Given the description of an element on the screen output the (x, y) to click on. 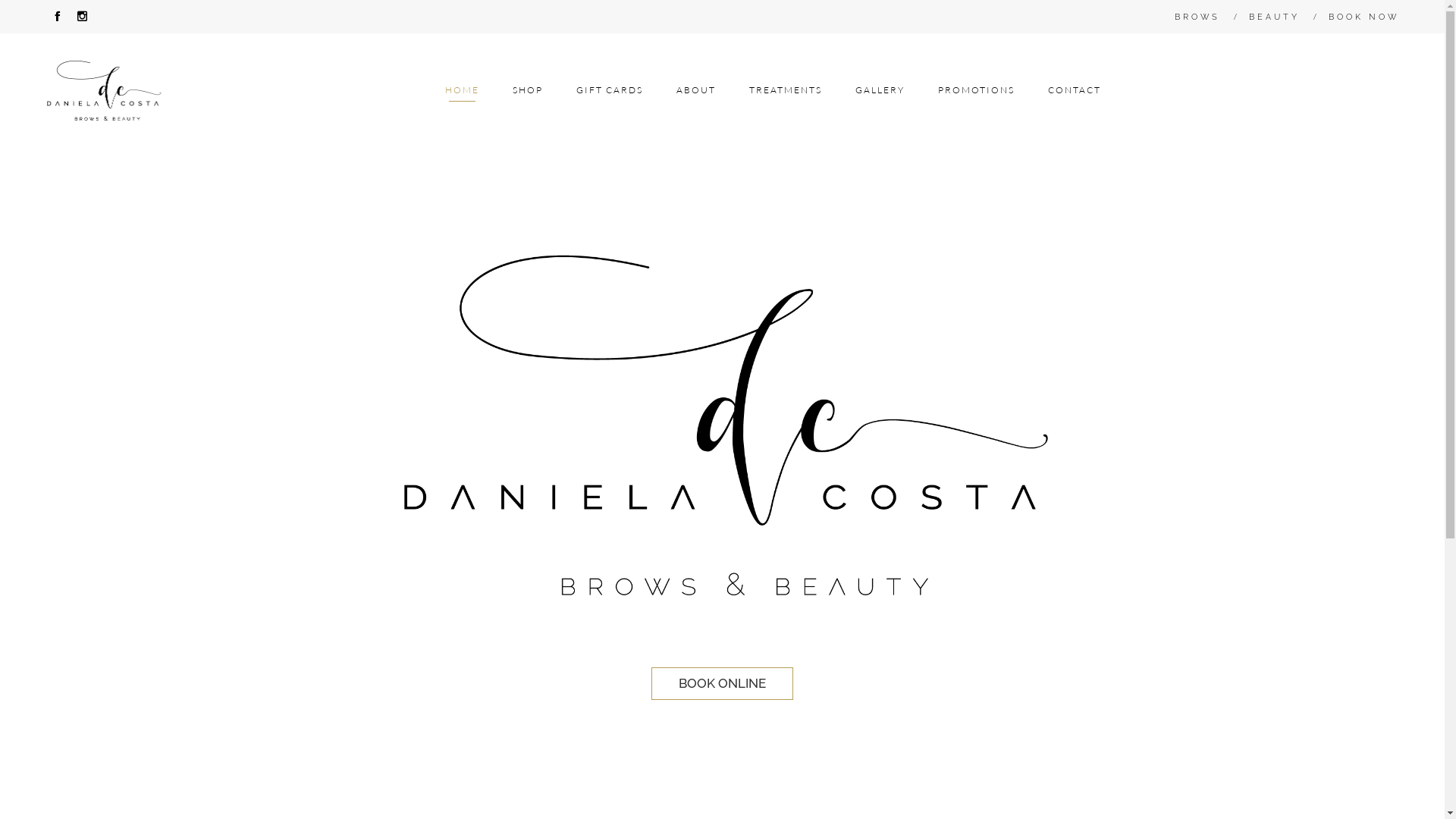
PROMOTIONS Element type: text (975, 89)
ABOUT Element type: text (695, 89)
TREATMENTS Element type: text (785, 89)
SHOP Element type: text (527, 89)
BOOK NOW Element type: text (1363, 16)
HOME Element type: text (462, 89)
GALLERY Element type: text (879, 89)
Skip to content Element type: text (1124, 66)
Daniela Costa | Brows & Beauty Element type: hover (103, 90)
BROWS Element type: text (1197, 16)
GIFT CARDS Element type: text (609, 89)
ZEUG Element type: text (1386, 792)
CONTACT Element type: text (1074, 89)
BEAUTY Element type: text (1273, 16)
